Given the description of an element on the screen output the (x, y) to click on. 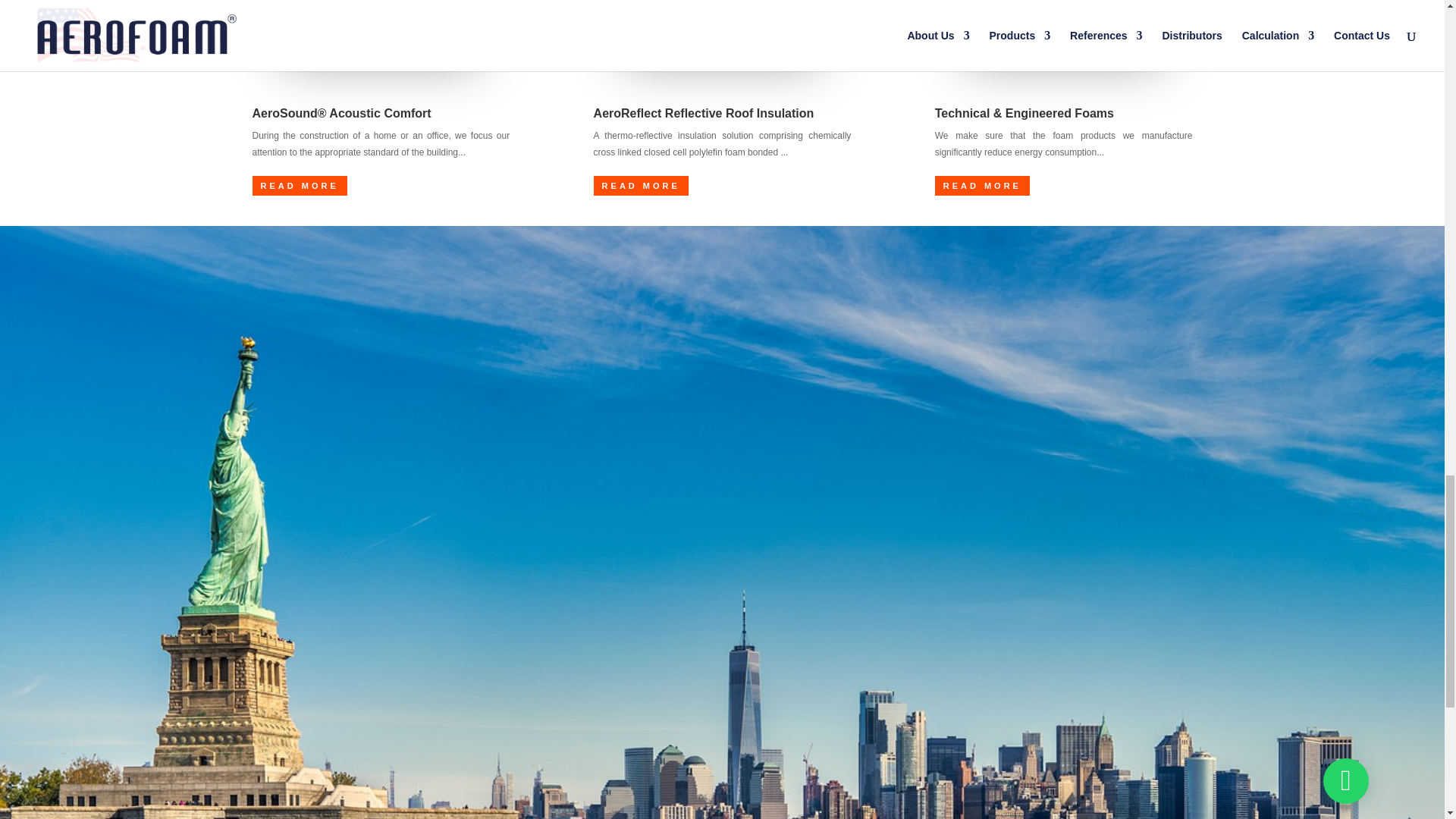
AeroSound Acoustic Foam (380, 32)
Aeroreflect Reflective Insulations (721, 32)
Aerofoam Engineered Foams (1063, 32)
